Given the description of an element on the screen output the (x, y) to click on. 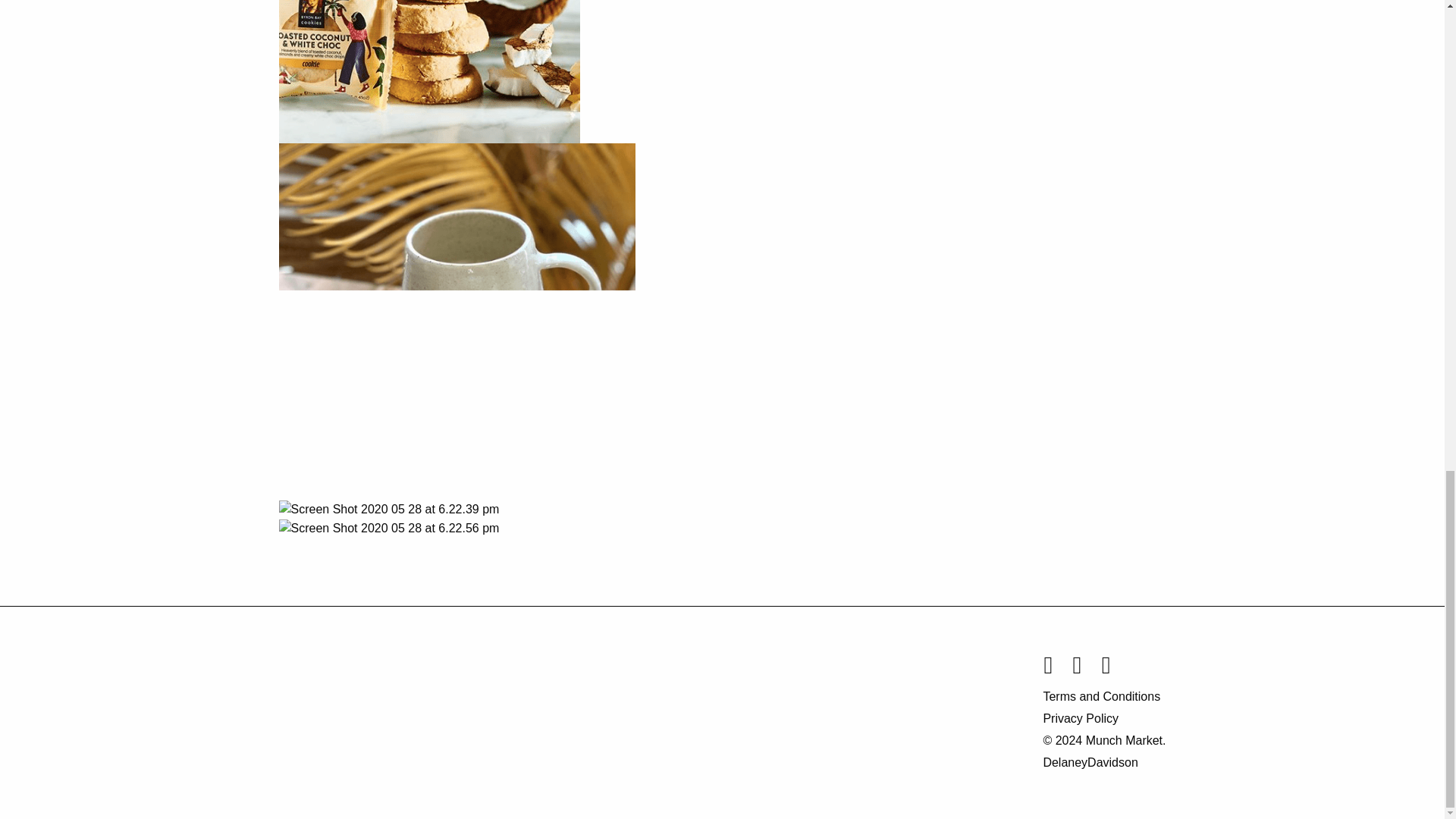
Terms and Conditions (1104, 696)
DelaneyDavidson (1089, 762)
Privacy Policy (1104, 718)
